Given the description of an element on the screen output the (x, y) to click on. 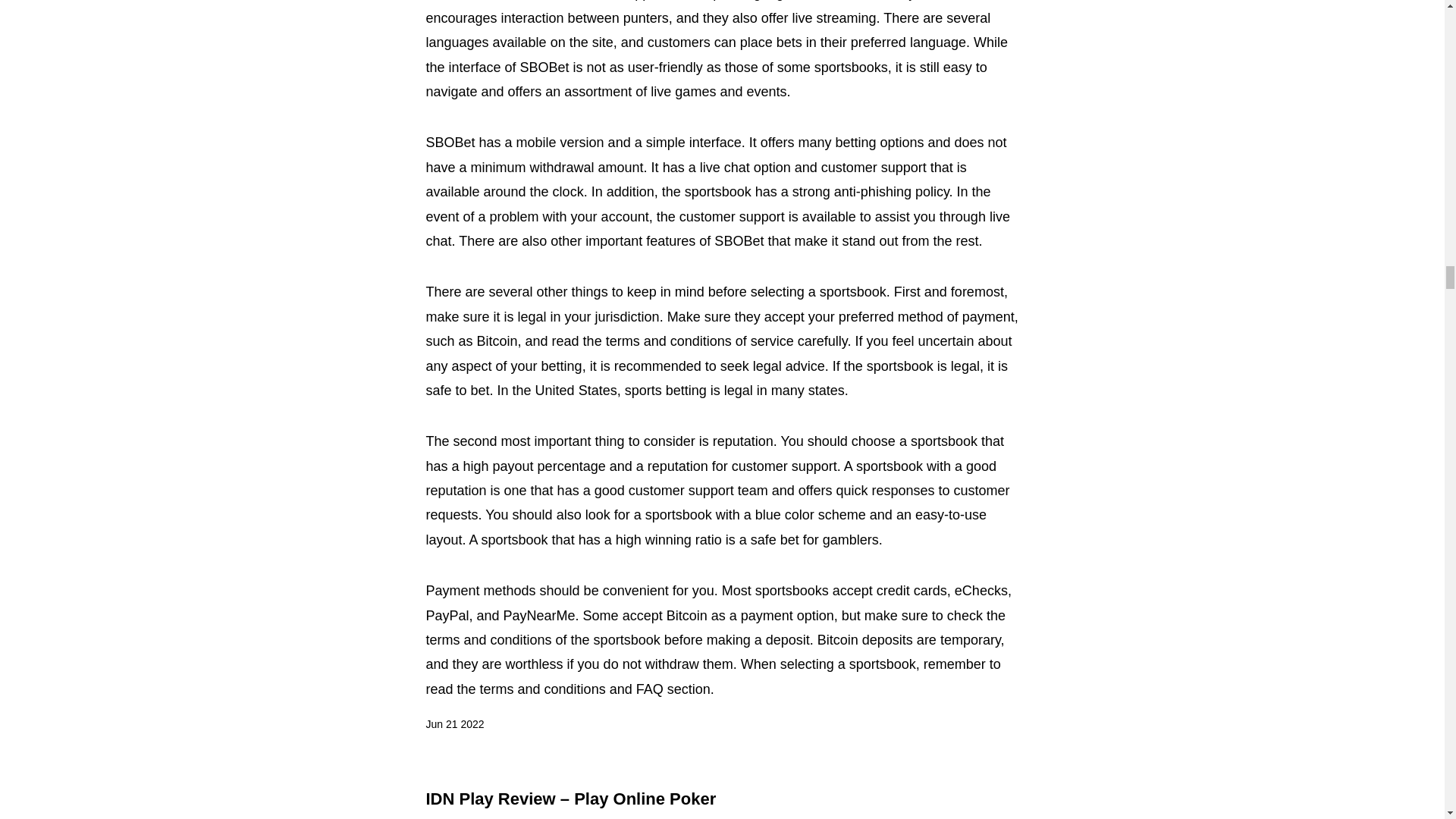
Jun 21 2022 (455, 724)
